Given the description of an element on the screen output the (x, y) to click on. 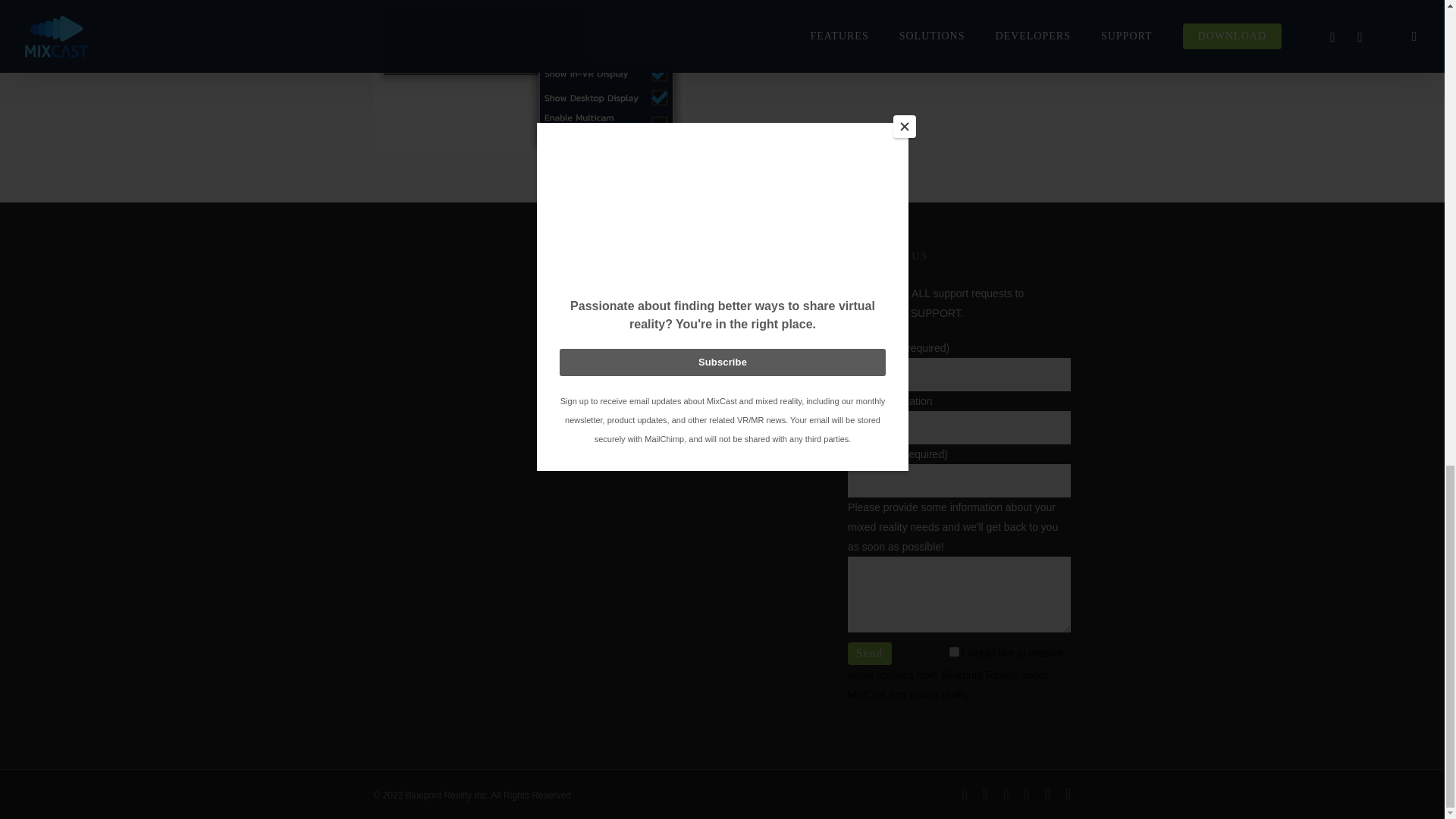
discord (1067, 793)
linkedin (1006, 793)
Terms of Service (649, 398)
instagram (1047, 793)
1 (954, 651)
Send (869, 653)
Privacy Policy (643, 363)
Press Kit (631, 293)
youtube (1027, 793)
twitter (965, 793)
EULAs (626, 328)
facebook (985, 793)
TECHNICAL SUPPORT (903, 313)
Send (869, 653)
